Given the description of an element on the screen output the (x, y) to click on. 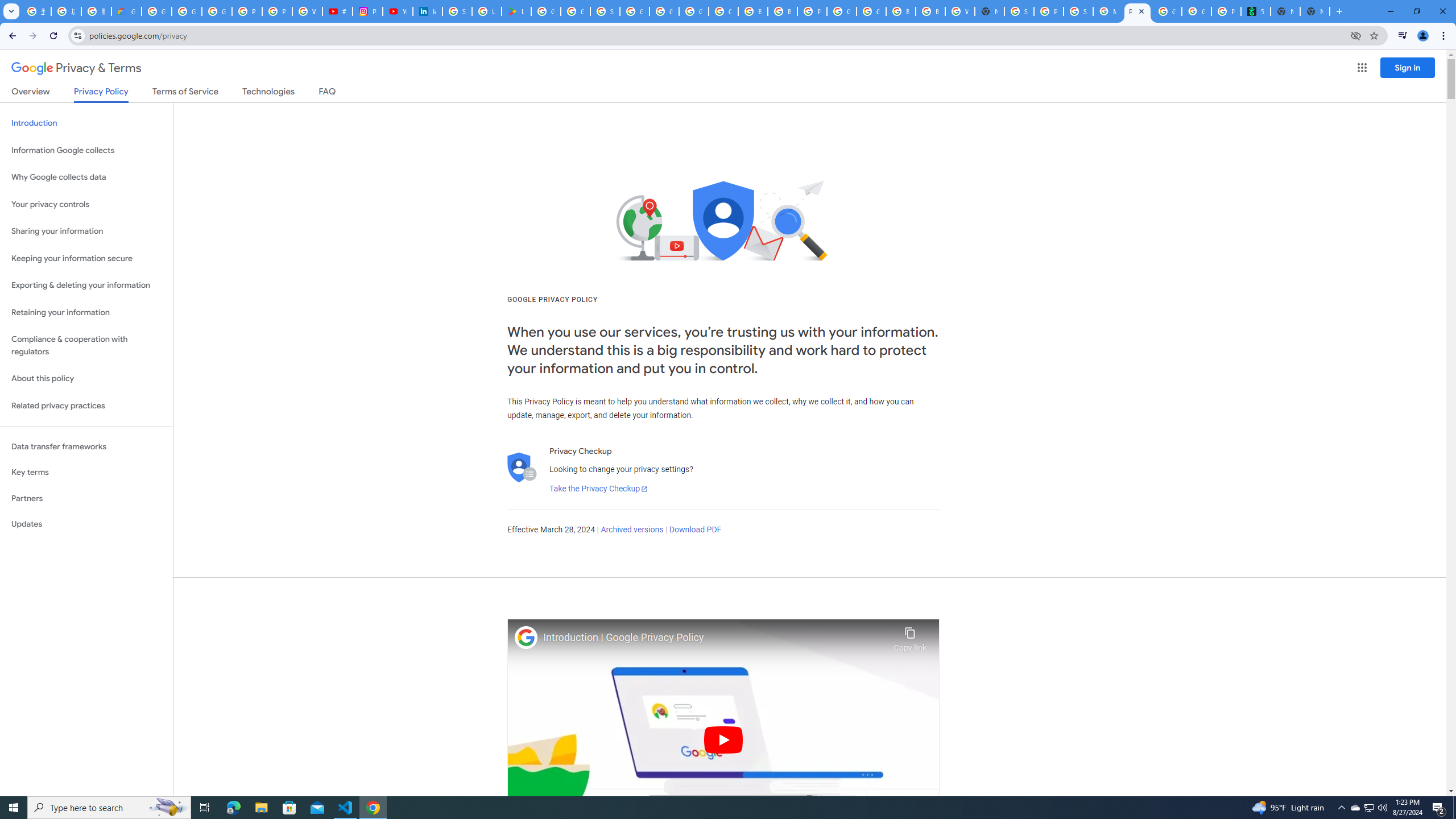
Privacy Help Center - Policies Help (277, 11)
Google Cloud Platform (871, 11)
Google Workspace - Specific Terms (575, 11)
Google Cloud Platform (841, 11)
Related privacy practices (86, 405)
